Given the description of an element on the screen output the (x, y) to click on. 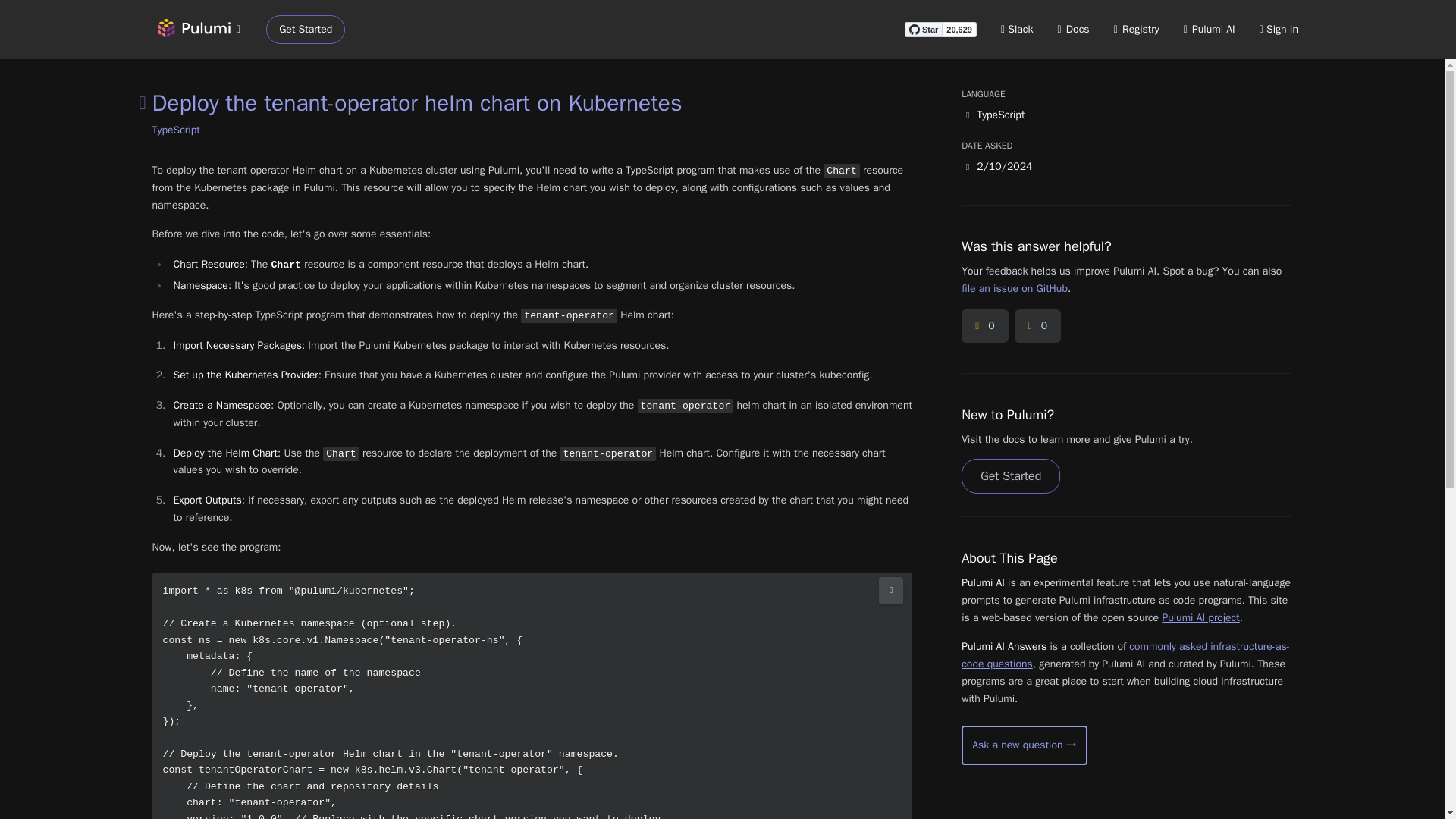
Slack (1017, 29)
Registry (1135, 29)
Upvote this answer (984, 326)
Downvote this answer (1037, 326)
Sign In (1278, 29)
Start a new conversation with Pulumi AI (1023, 744)
Get Started (1009, 475)
Pulumi AI (1208, 29)
Get Started (305, 29)
Docs (1073, 29)
